Given the description of an element on the screen output the (x, y) to click on. 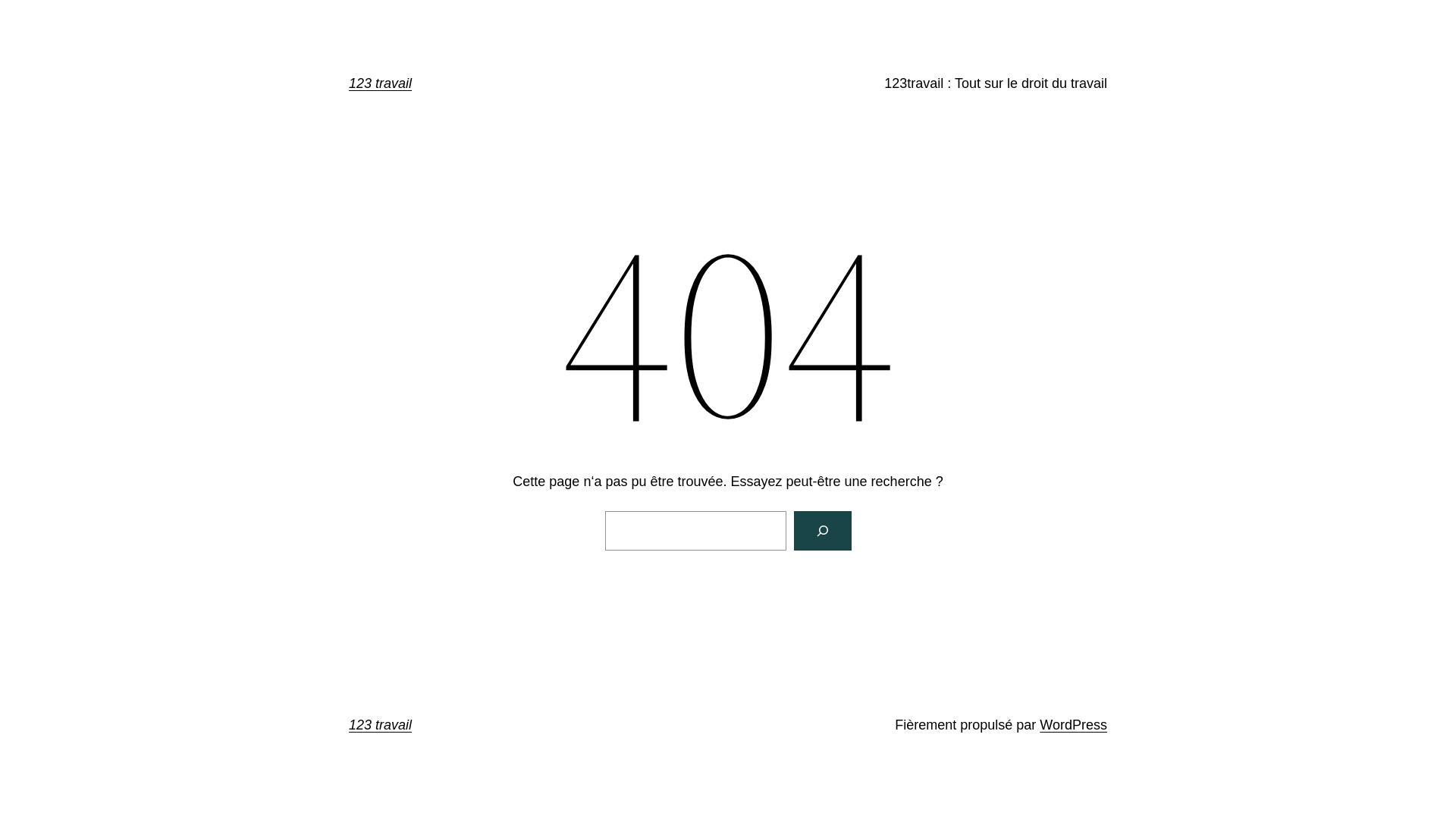
123travail : Tout sur le droit du travail Element type: text (995, 83)
123 travail Element type: text (379, 724)
WordPress Element type: text (1073, 724)
123 travail Element type: text (379, 83)
